Given the description of an element on the screen output the (x, y) to click on. 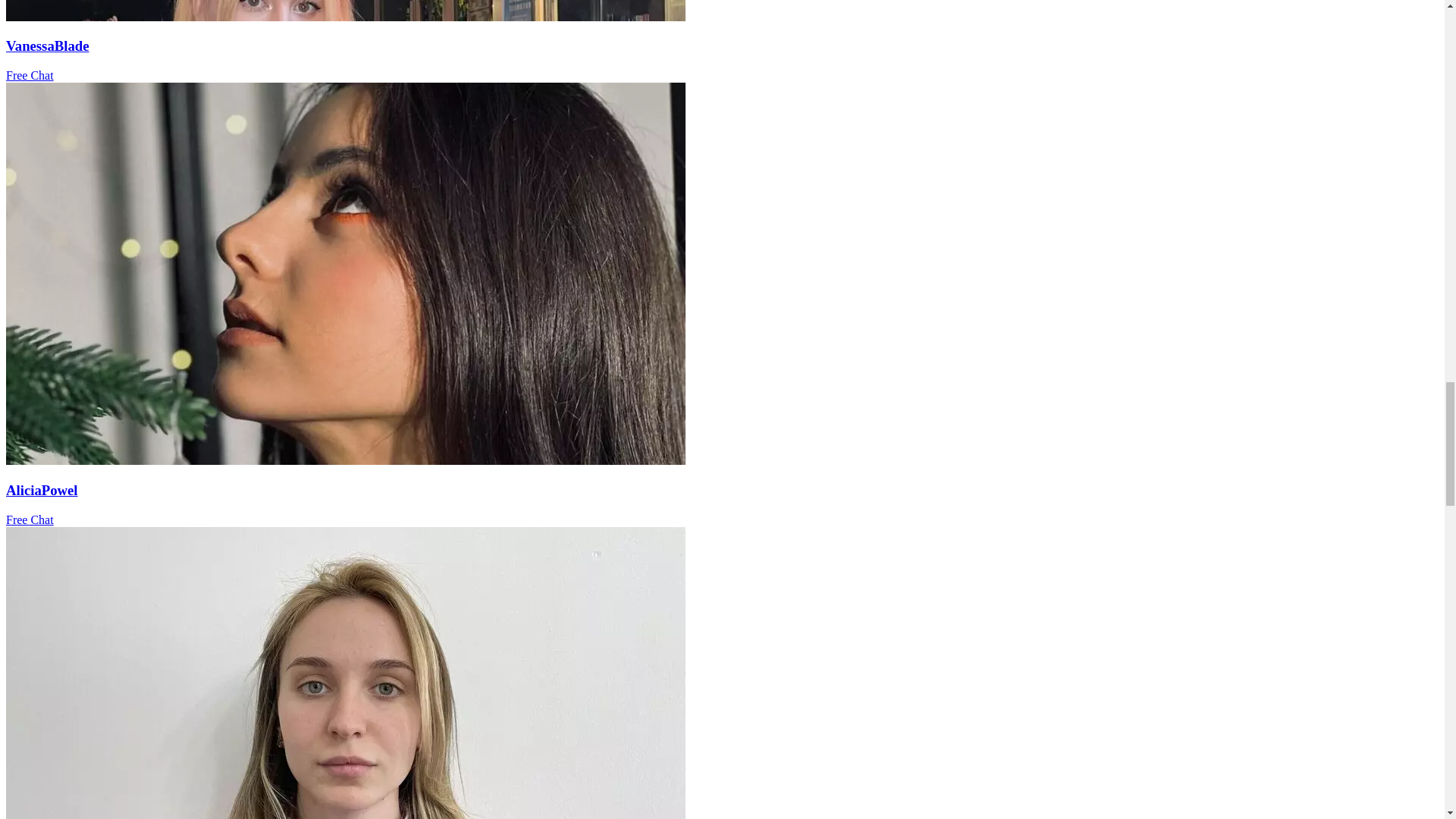
Live Sex Chat with AliciaPowel (345, 460)
Live Sex Chat with VanessaBlade (345, 16)
